Given the description of an element on the screen output the (x, y) to click on. 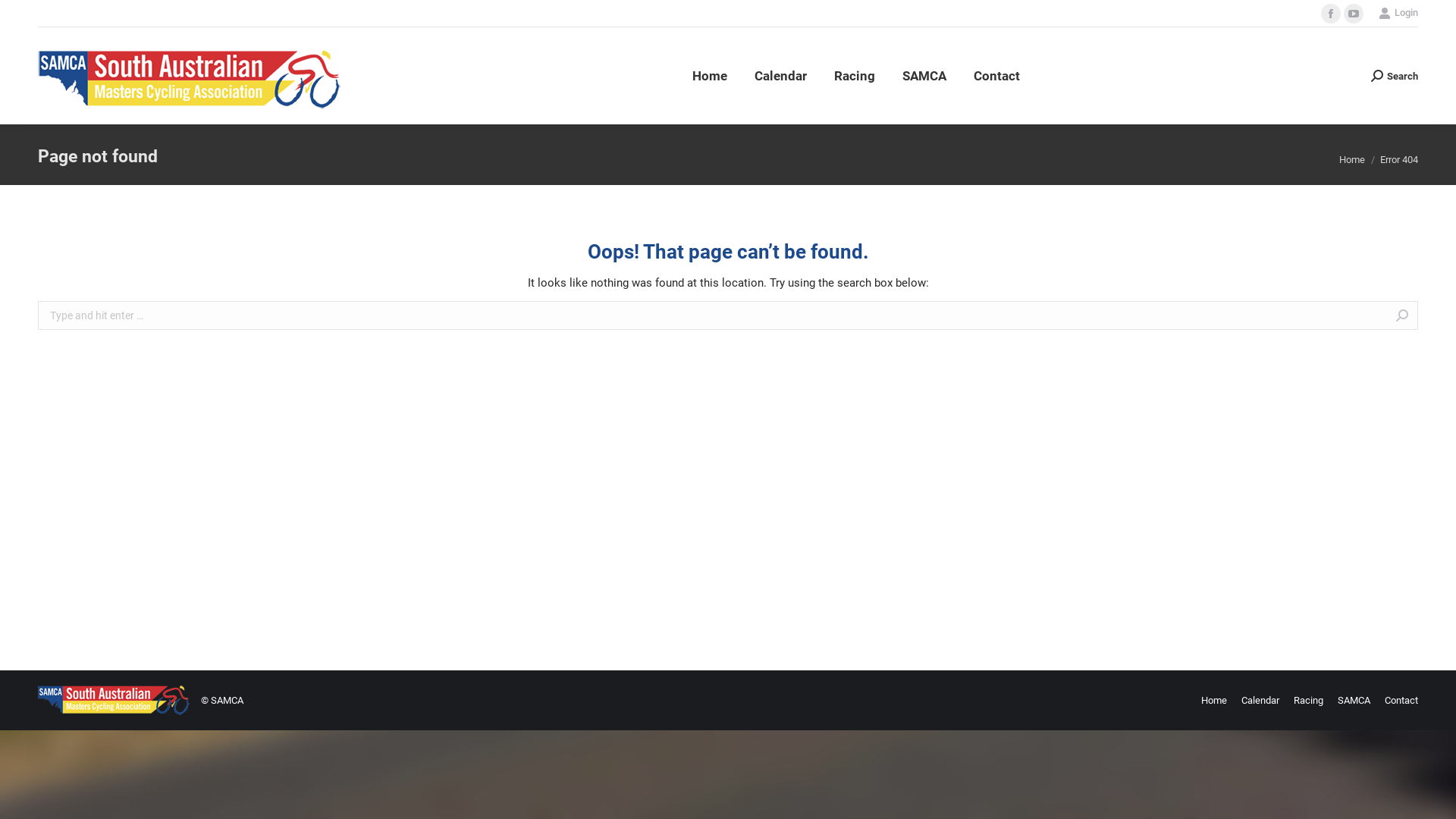
Home Element type: text (1352, 159)
YouTube page opens in new window Element type: text (1353, 13)
Go! Element type: text (23, 15)
Contact Element type: text (996, 75)
SAMCA Element type: text (924, 75)
Calendar Element type: text (1260, 700)
Search Element type: text (1394, 75)
Calendar Element type: text (780, 75)
Home Element type: text (709, 75)
Login Element type: text (1398, 12)
Home Element type: text (1213, 700)
Contact Element type: text (1401, 700)
Facebook page opens in new window Element type: text (1330, 13)
Racing Element type: text (854, 75)
Racing Element type: text (1308, 700)
SAMCA Element type: text (1353, 700)
